Given the description of an element on the screen output the (x, y) to click on. 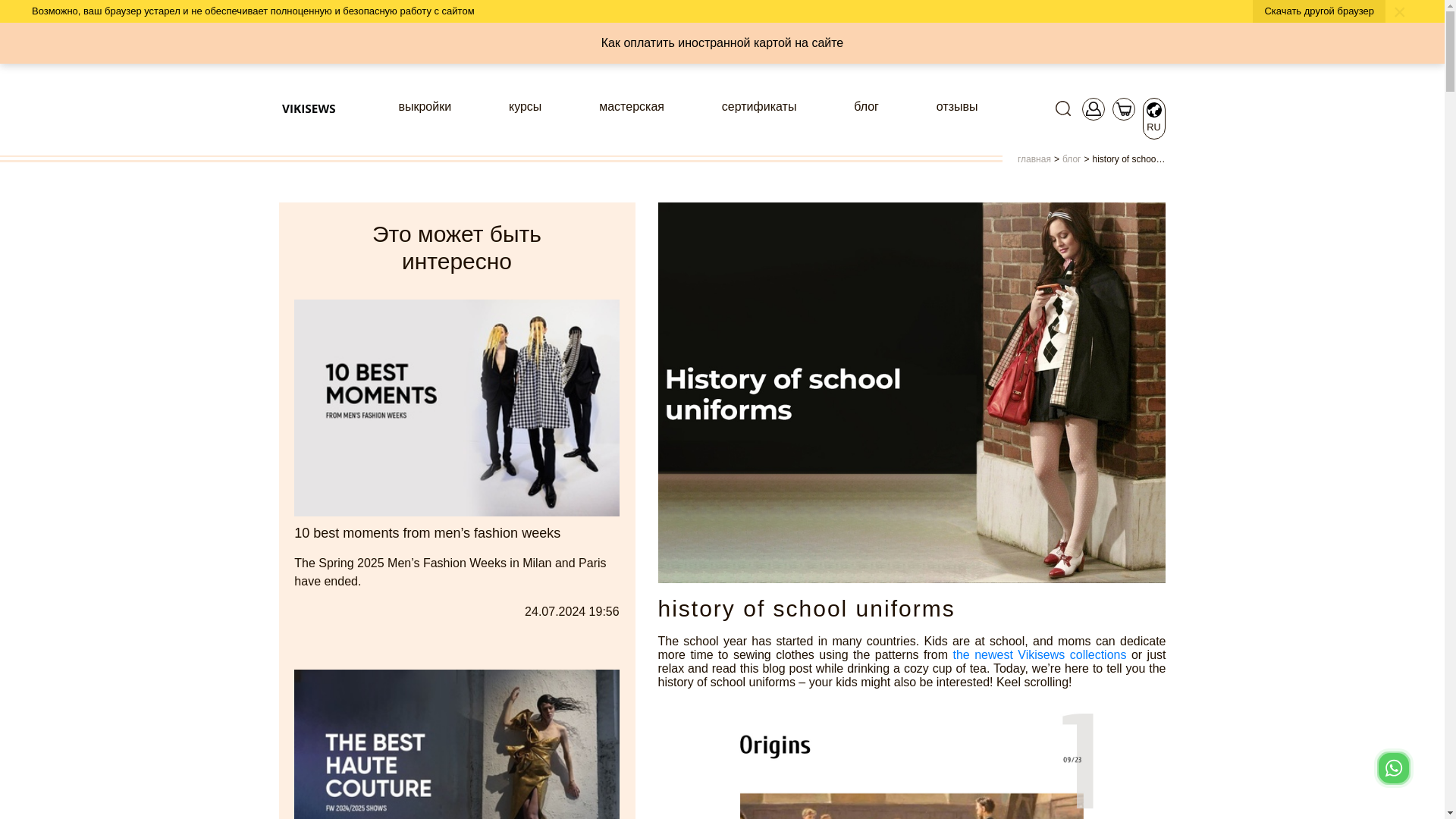
the newest Vikisews collections (1038, 654)
